Given the description of an element on the screen output the (x, y) to click on. 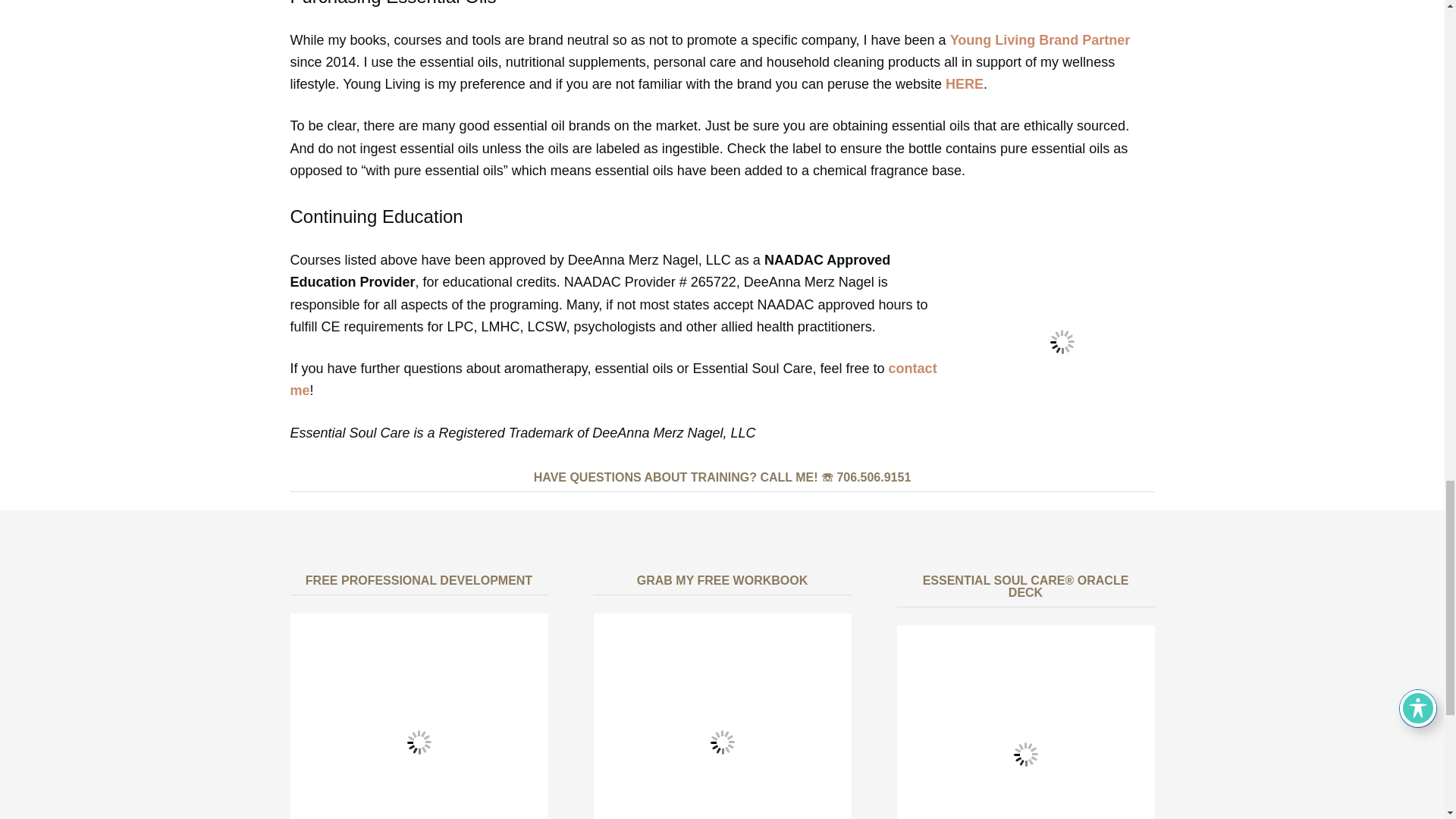
HERE (964, 83)
Young Living Brand Partner (1040, 38)
contact me (612, 379)
